Given the description of an element on the screen output the (x, y) to click on. 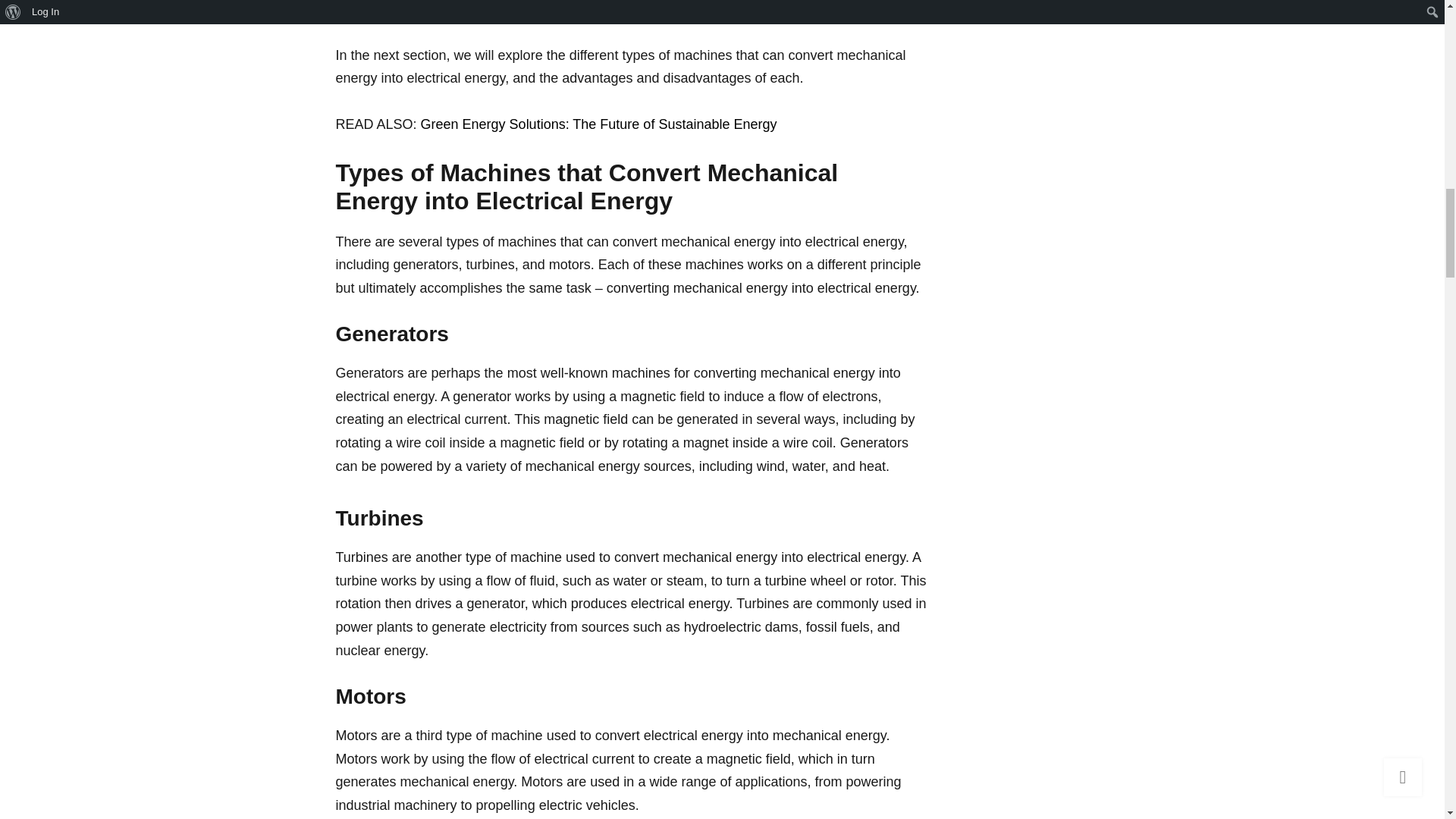
Green Energy Solutions: The Future of Sustainable Energy (598, 124)
